Given the description of an element on the screen output the (x, y) to click on. 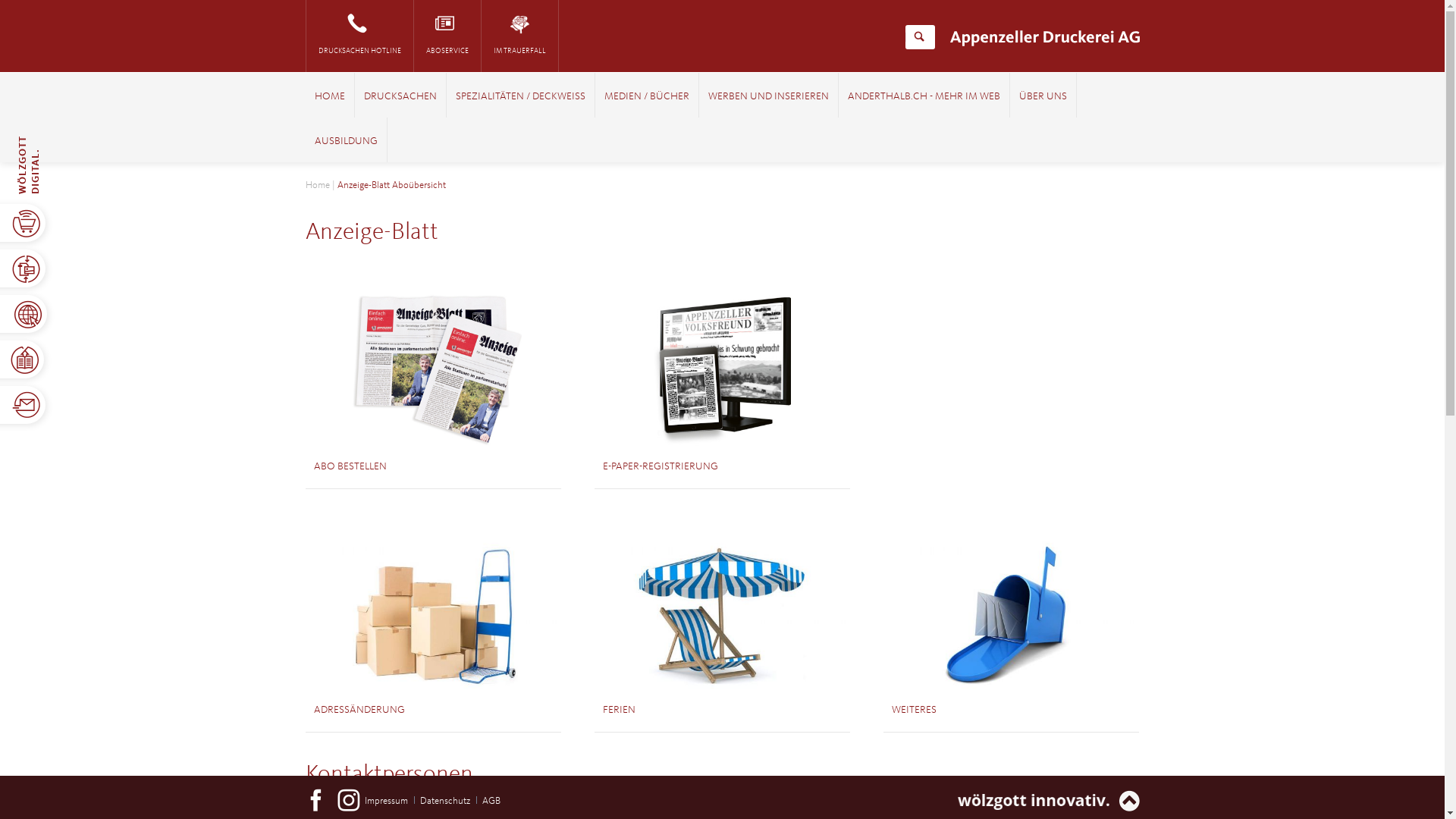
AUSBILDUNG Element type: text (344, 141)
E-PAPER-REGISTRIERUNG Element type: text (660, 466)
DRUCKSACHEN Element type: text (400, 96)
HOME Element type: text (328, 96)
ANDERTHALB.CH - MEHR IM WEB Element type: text (923, 96)
FERIEN Element type: text (618, 709)
Datenschutz Element type: text (445, 801)
WEITERES Element type: text (913, 709)
Home Element type: text (316, 185)
ABOSERVICE Element type: text (447, 36)
Impressum Element type: text (385, 801)
DRUCKSACHEN HOTLINE Element type: text (359, 36)
AGB Element type: text (491, 801)
Suchen Element type: text (919, 37)
WERBEN UND INSERIEREN Element type: text (768, 96)
ABO BESTELLEN Element type: text (349, 466)
  Element type: text (499, 793)
IM TRAUERFALL Element type: text (518, 36)
